Given the description of an element on the screen output the (x, y) to click on. 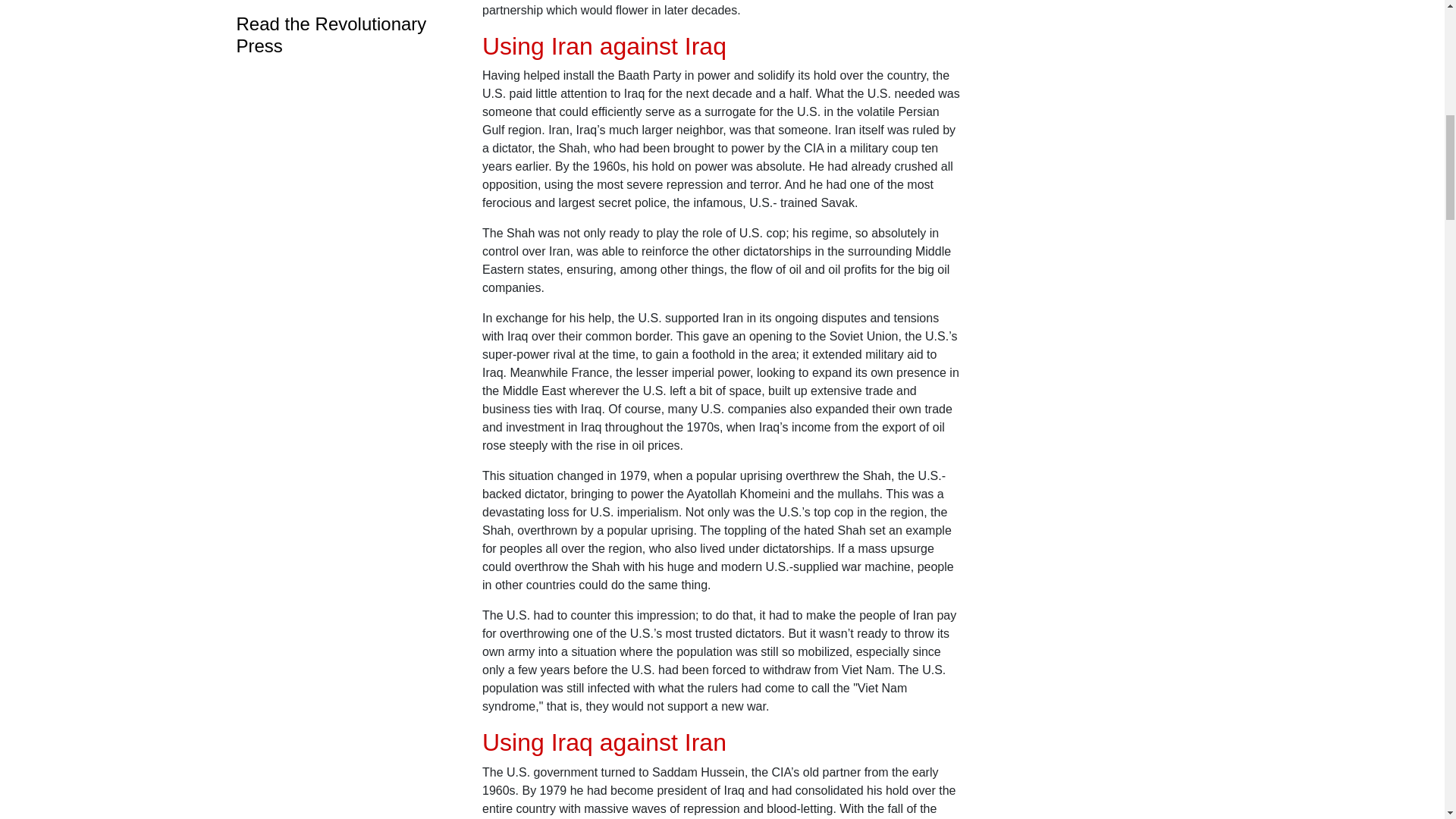
Revolutionary Publications from Other Countries (344, 35)
Subscription Information (344, 3)
Read the Revolutionary Press (344, 35)
Subscriptions (344, 3)
